Given the description of an element on the screen output the (x, y) to click on. 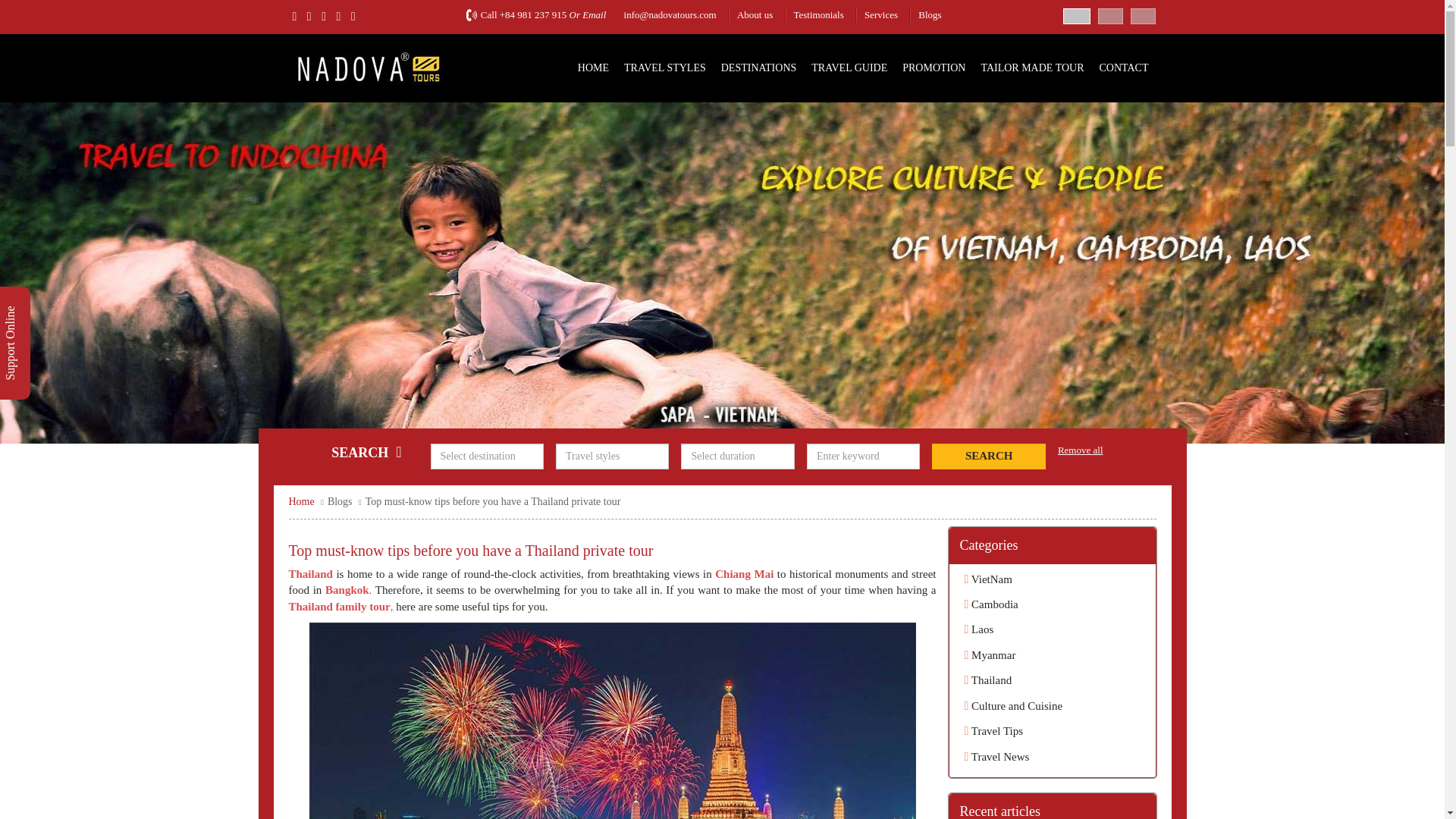
Change Language Portugal (1143, 14)
Services (881, 14)
TRAVEL STYLES (665, 68)
Blogs (929, 14)
Blogs (929, 14)
Travel Styles (665, 68)
Change Language Spain (1109, 14)
Testimonials (818, 14)
About us (754, 14)
twitter (308, 15)
Services (881, 14)
Nadova Tours (366, 66)
facebook (293, 15)
linkedin (339, 15)
About us (754, 14)
